Given the description of an element on the screen output the (x, y) to click on. 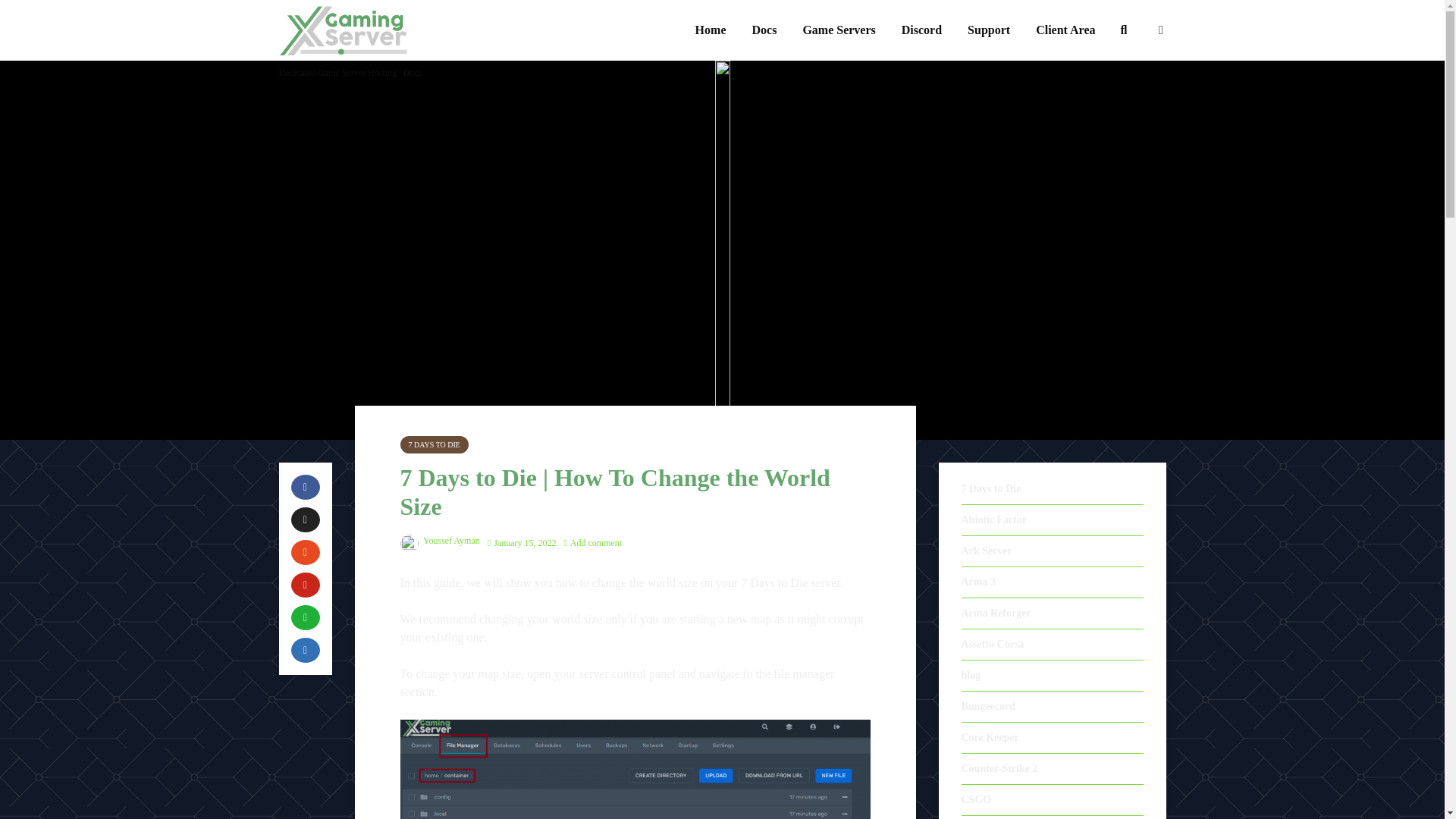
Discord (921, 30)
Home (711, 30)
Client Area (1065, 30)
Add comment (592, 542)
Youssef Ayman (440, 540)
Game Servers (838, 30)
Docs (763, 30)
Support (989, 30)
7 DAYS TO DIE (434, 444)
